Given the description of an element on the screen output the (x, y) to click on. 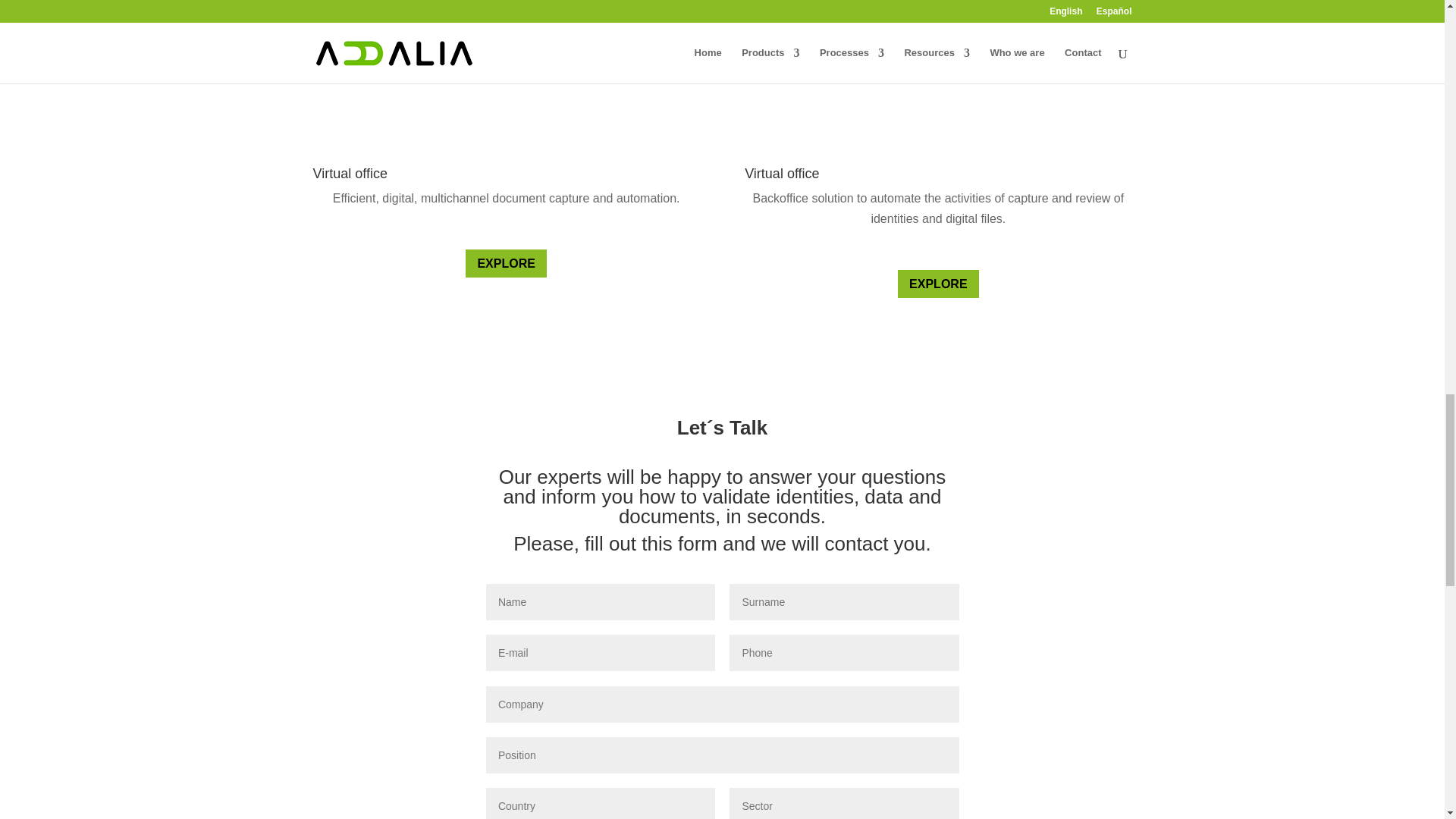
Only letters and numbers allowed. (722, 704)
EXPLORE (938, 284)
EXPLORE (505, 263)
Only letters and numbers allowed. (722, 755)
